Given the description of an element on the screen output the (x, y) to click on. 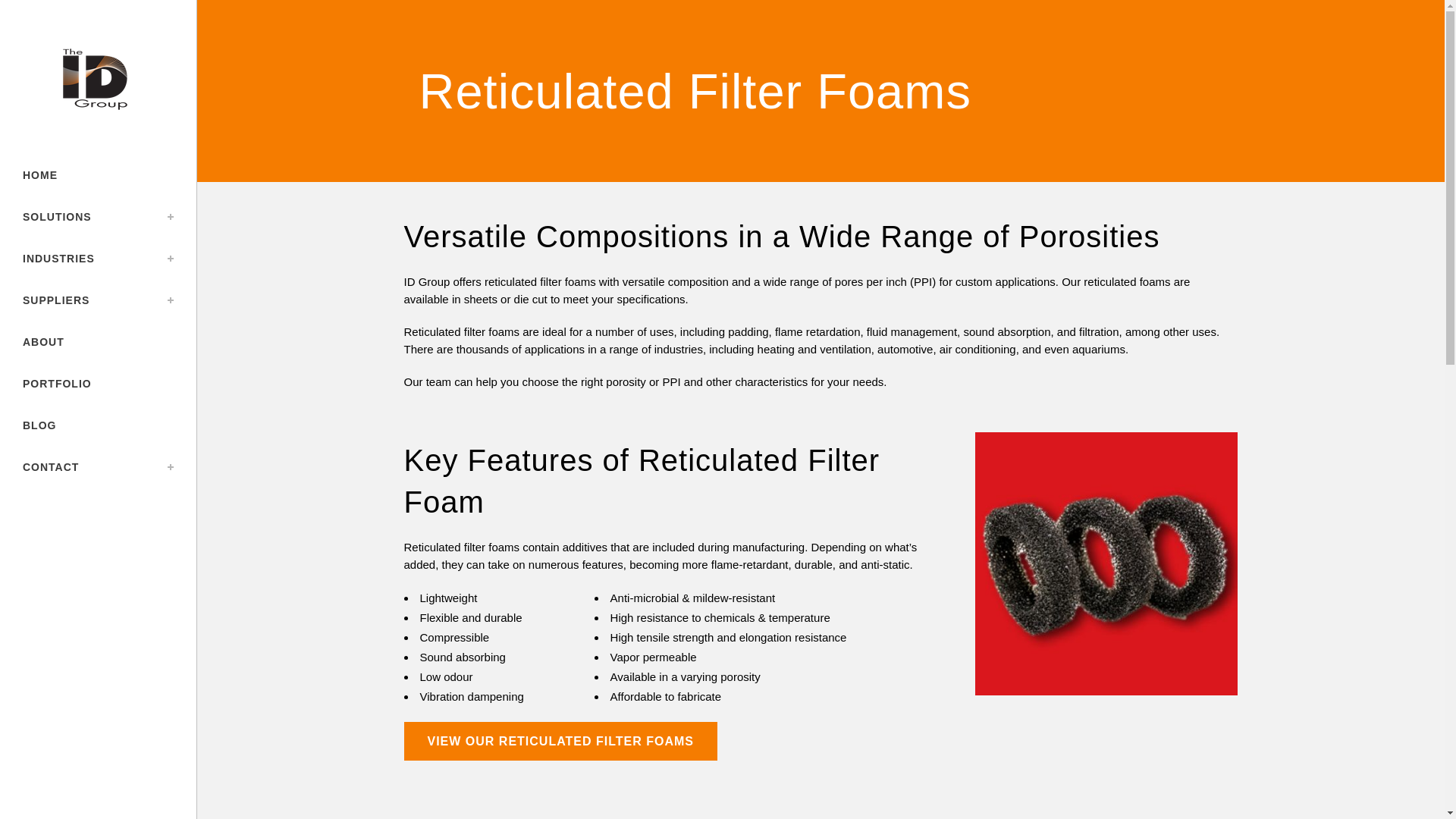
INDUSTRIES (98, 259)
SOLUTIONS (98, 217)
Solutions (98, 217)
HOME (98, 175)
